Given the description of an element on the screen output the (x, y) to click on. 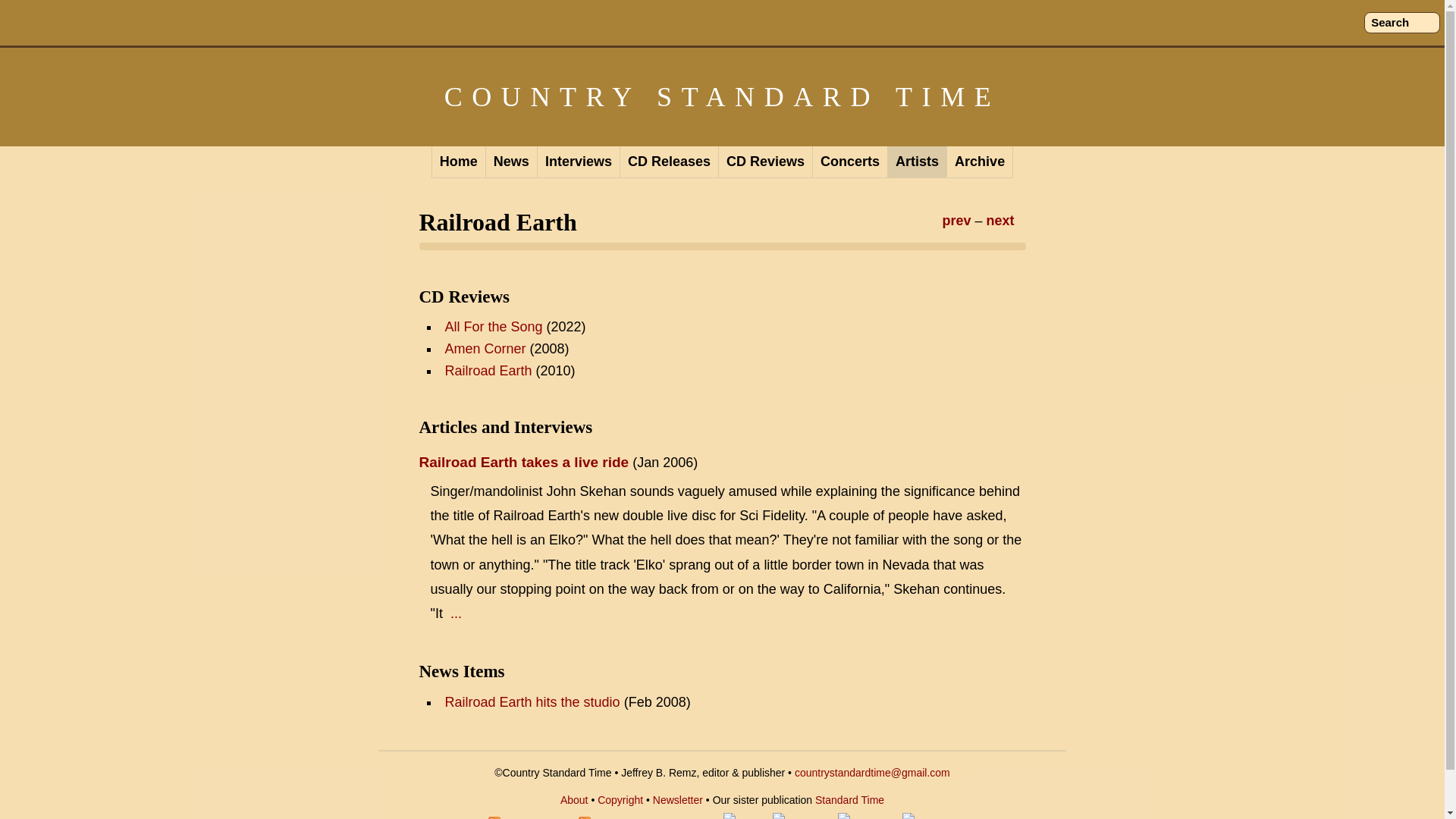
Concerts (850, 162)
CD Releases (669, 162)
Railroad Earth takes a live ride (523, 462)
News (511, 162)
Standard Time (849, 799)
Artists (917, 162)
All For the Song (492, 326)
Interviews (578, 162)
Railroad Earth hits the studio (532, 702)
Copyright (619, 799)
